Given the description of an element on the screen output the (x, y) to click on. 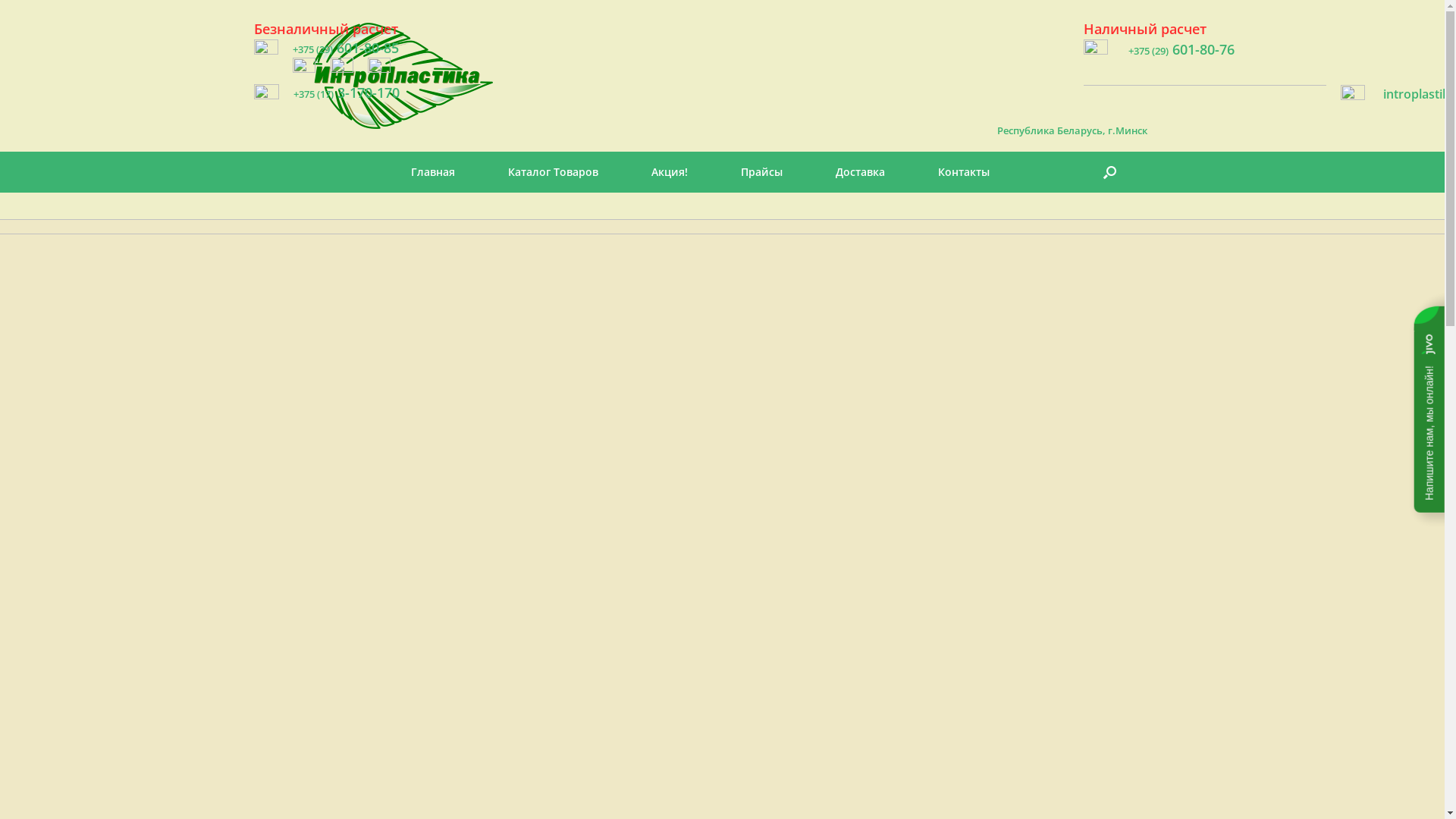
+375 (29) 601-80-85 Element type: text (345, 47)
Skip to content Element type: text (0, 0)
+375 (29) 601-80-76 Element type: text (1181, 49)
+375 (17) 3-170-170 Element type: text (346, 92)
